Given the description of an element on the screen output the (x, y) to click on. 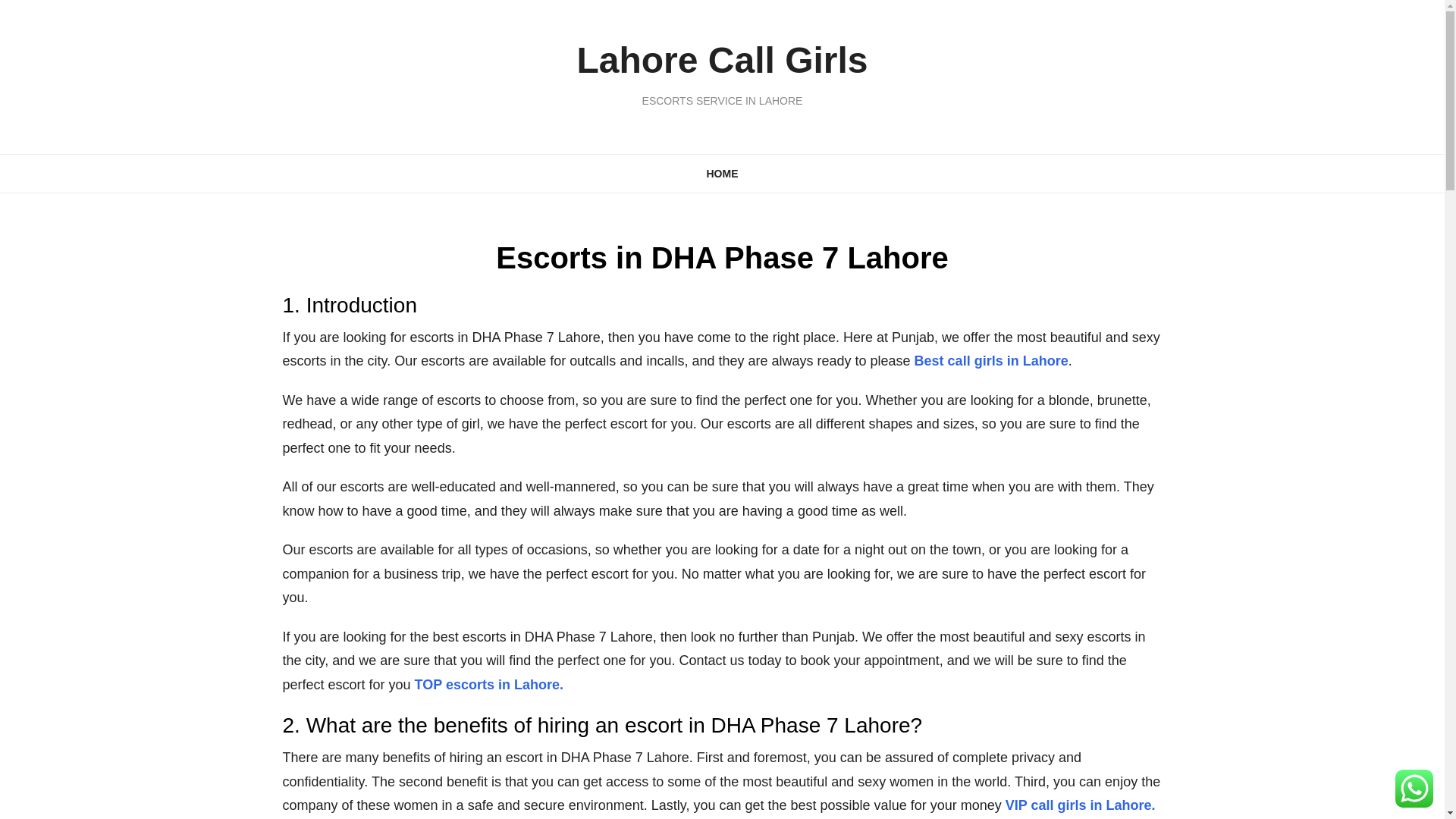
TOP escorts in Lahore. (488, 683)
HOME (721, 173)
Lahore Call Girls (721, 60)
VIP call girls in Lahore. (1081, 805)
Best call girls in Lahore (991, 360)
